Given the description of an element on the screen output the (x, y) to click on. 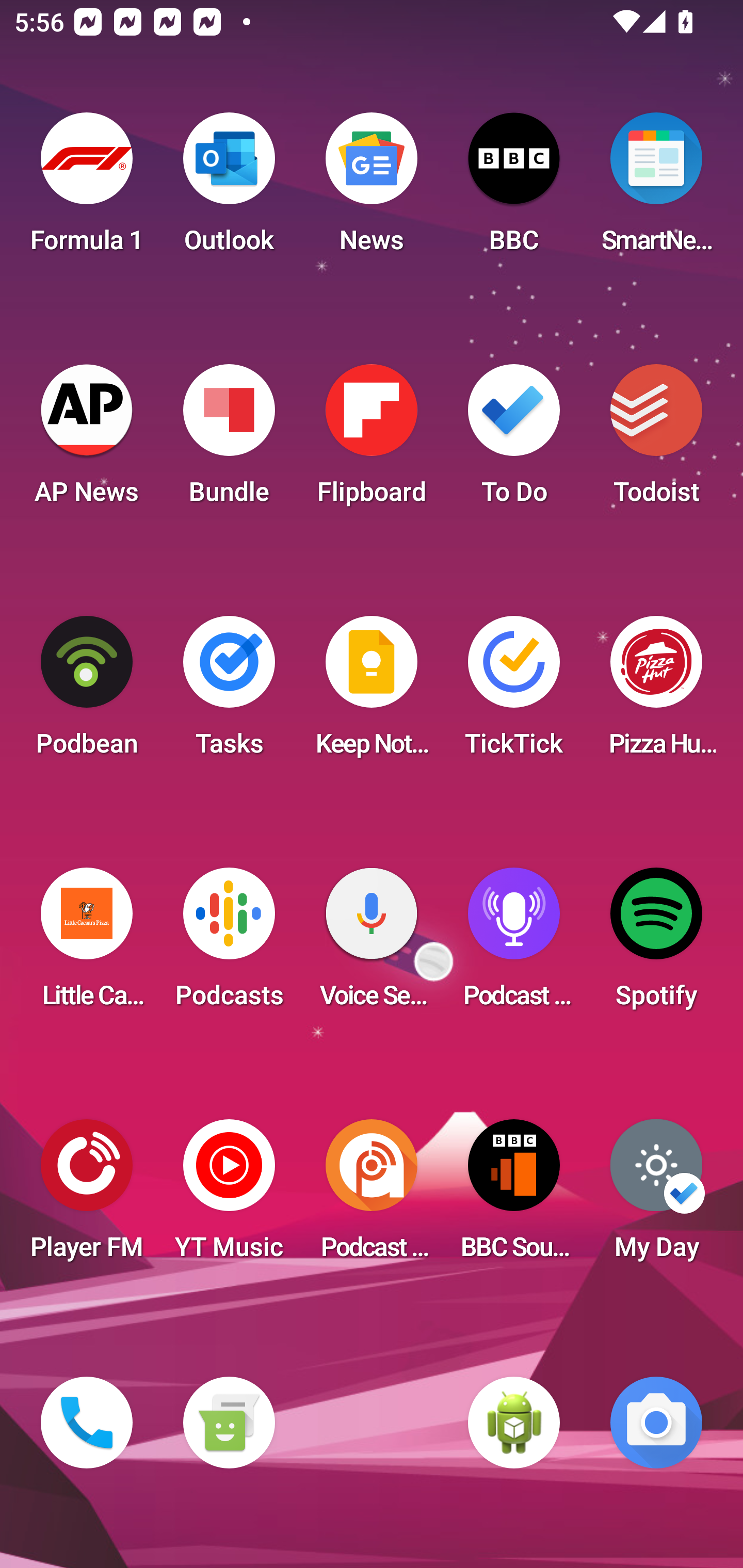
Formula 1 (86, 188)
Outlook (228, 188)
News (371, 188)
BBC (513, 188)
SmartNews (656, 188)
AP News (86, 440)
Bundle (228, 440)
Flipboard (371, 440)
To Do (513, 440)
Todoist (656, 440)
Podbean (86, 692)
Tasks (228, 692)
Keep Notes (371, 692)
TickTick (513, 692)
Pizza Hut HK & Macau (656, 692)
Little Caesars Pizza (86, 943)
Podcasts (228, 943)
Voice Search (371, 943)
Podcast Player (513, 943)
Spotify (656, 943)
Player FM (86, 1195)
YT Music (228, 1195)
Podcast Addict (371, 1195)
BBC Sounds (513, 1195)
My Day (656, 1195)
Phone (86, 1422)
Messaging (228, 1422)
WebView Browser Tester (513, 1422)
Camera (656, 1422)
